Given the description of an element on the screen output the (x, y) to click on. 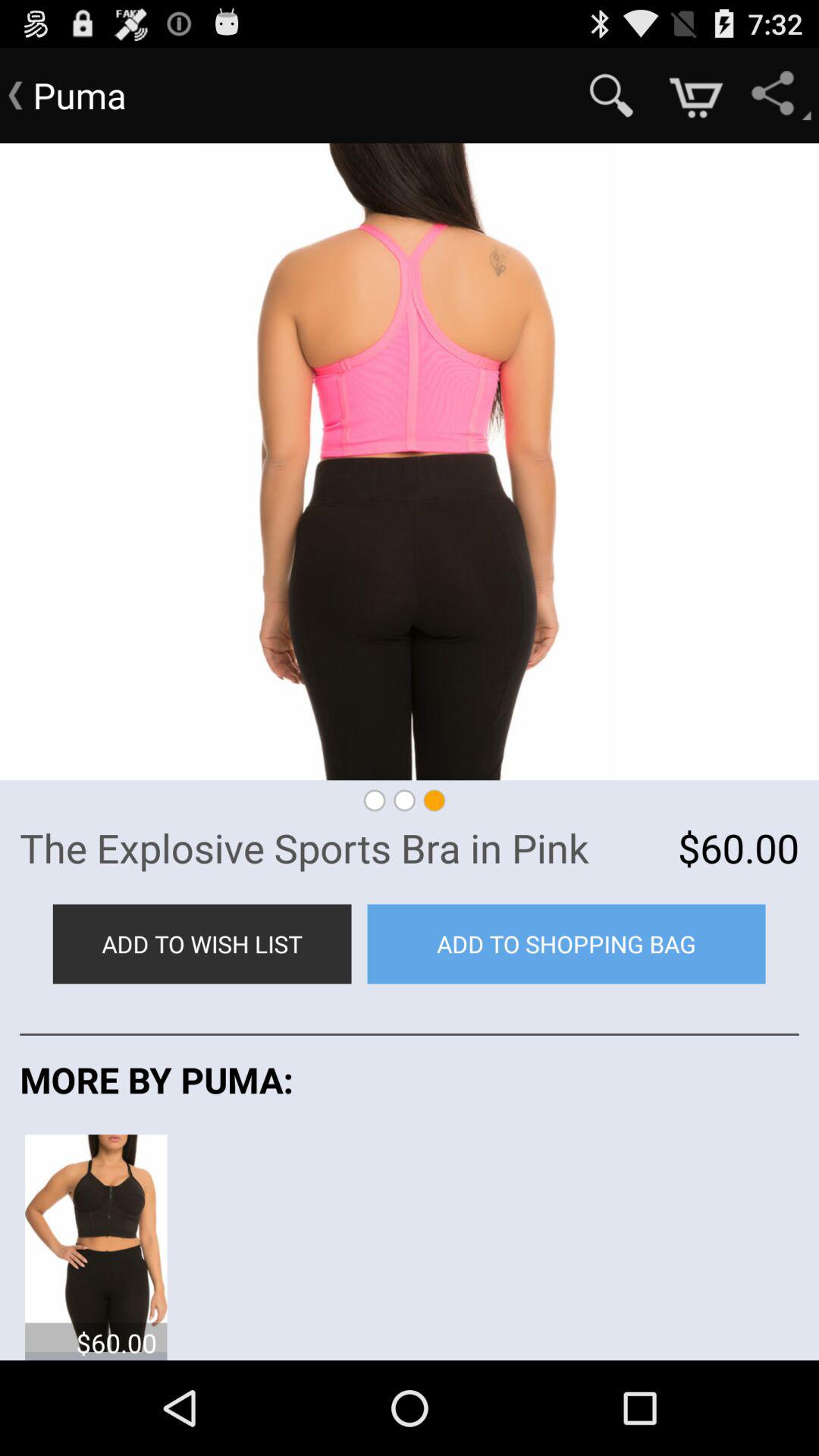
look at clothes (96, 1241)
